Given the description of an element on the screen output the (x, y) to click on. 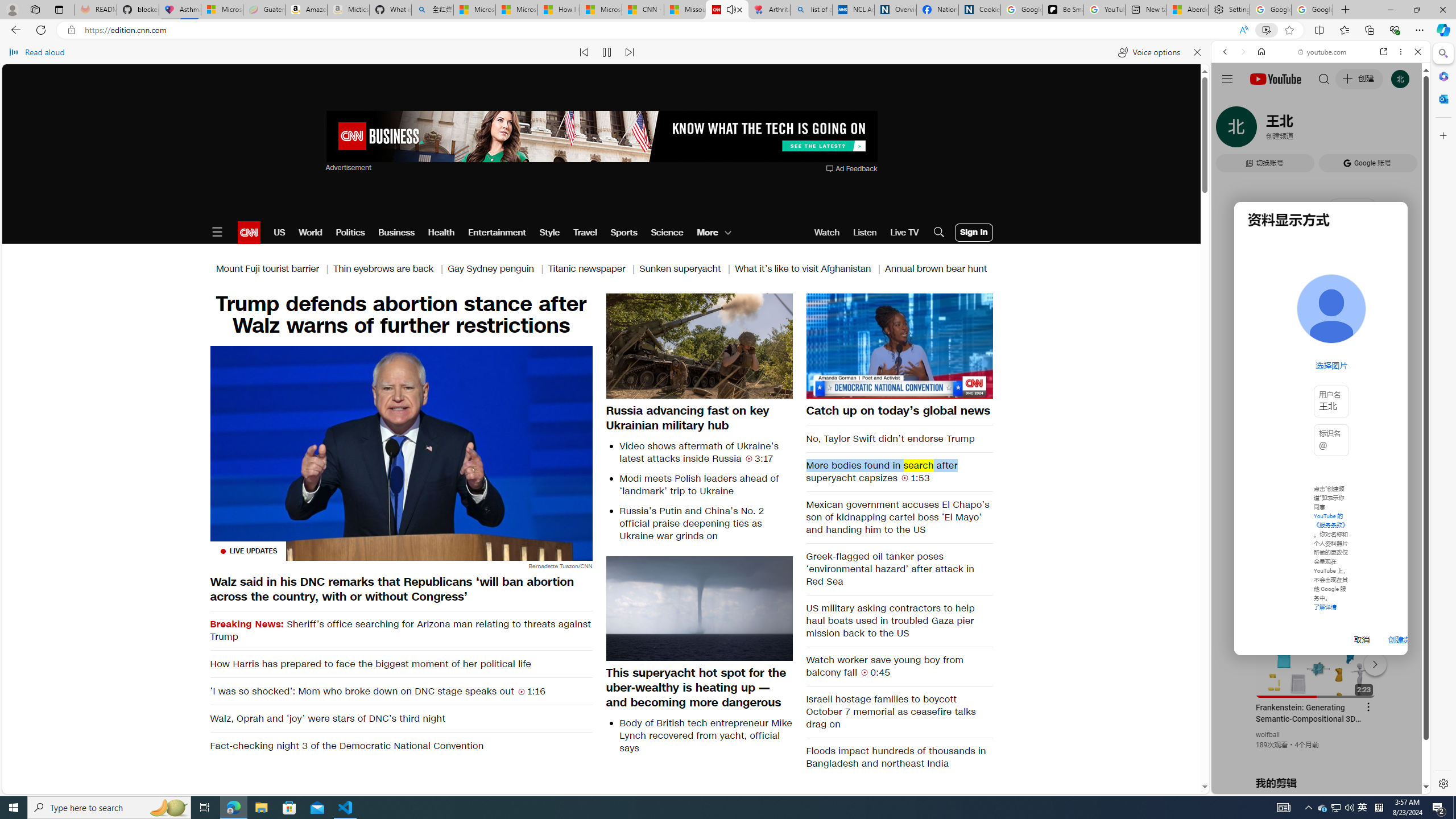
Fact-checking night 3 of the Democratic National Convention (400, 745)
Pause (898, 345)
